Given the description of an element on the screen output the (x, y) to click on. 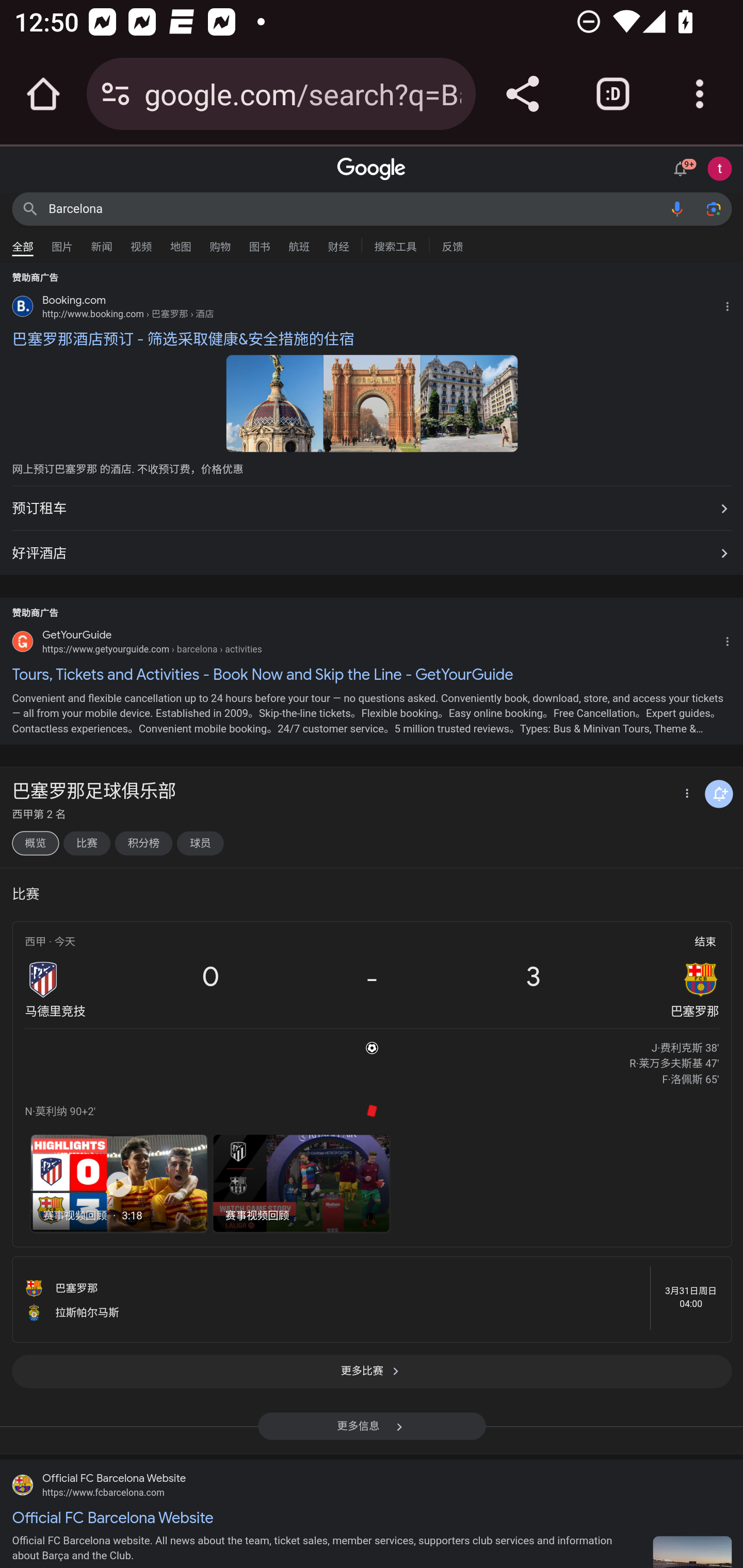
Open the home page (43, 93)
Connection is secure (115, 93)
Share (522, 93)
Switch or close tabs (612, 93)
Customize and control Google Chrome (699, 93)
Google (371, 169)
有 9 条以上的新通知 (683, 166)
Google 账号： test appium (testappium002@gmail.com) (719, 168)
Google 搜索 (29, 208)
使用拍照功能或照片进行搜索 (712, 208)
Barcelona (353, 208)
图片 (62, 241)
新闻 (101, 241)
视频 (141, 241)
地图 (180, 241)
购物 (219, 241)
图书 (259, 241)
航班 (299, 241)
财经 (338, 241)
搜索工具 (395, 244)
反馈 (452, 244)
为什么会显示该广告？ (731, 303)
巴塞罗那酒店预订 - 筛选采取健康&安全措施的住宿 (371, 339)
图片来自 booking.com (274, 402)
图片来自 booking.com (371, 402)
图片来自 booking.com (468, 402)
预订租车 (371, 508)
好评酒店 (371, 549)
为什么会显示该广告？ (731, 639)
接收关于“巴塞罗那足球俱乐部”的通知 (718, 793)
更多选项 (685, 794)
概览 (34, 843)
比赛 (86, 843)
积分榜 (143, 843)
球员 (199, 843)
更多比赛 (371, 1376)
更多信息 (371, 1432)
Official FC Barcelona Website (371, 1516)
